Given the description of an element on the screen output the (x, y) to click on. 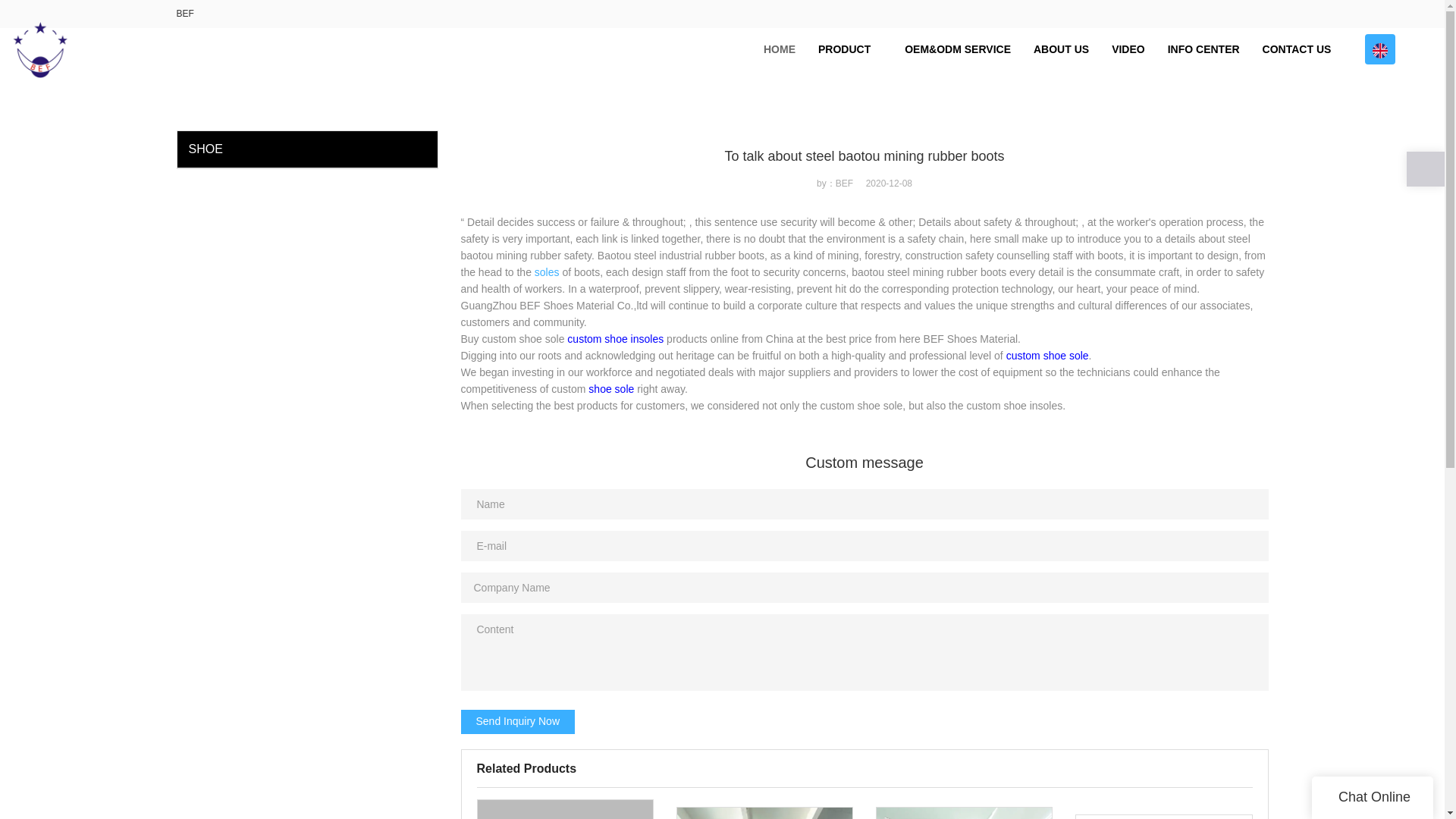
What is the difference between plastic and rubber soles? (964, 812)
shoe sole (610, 388)
custom shoe insoles (615, 338)
ABOUT US (1061, 49)
BEF (184, 13)
INFO CENTER (1203, 49)
soles (546, 272)
What Materials Are Available For The Shoe Soles? (765, 812)
custom shoe sole (1047, 355)
CONTACT US (1296, 49)
Send Inquiry Now (518, 721)
How to Distinguish Rubber Sole (1163, 816)
PRODUCT (849, 49)
